Given the description of an element on the screen output the (x, y) to click on. 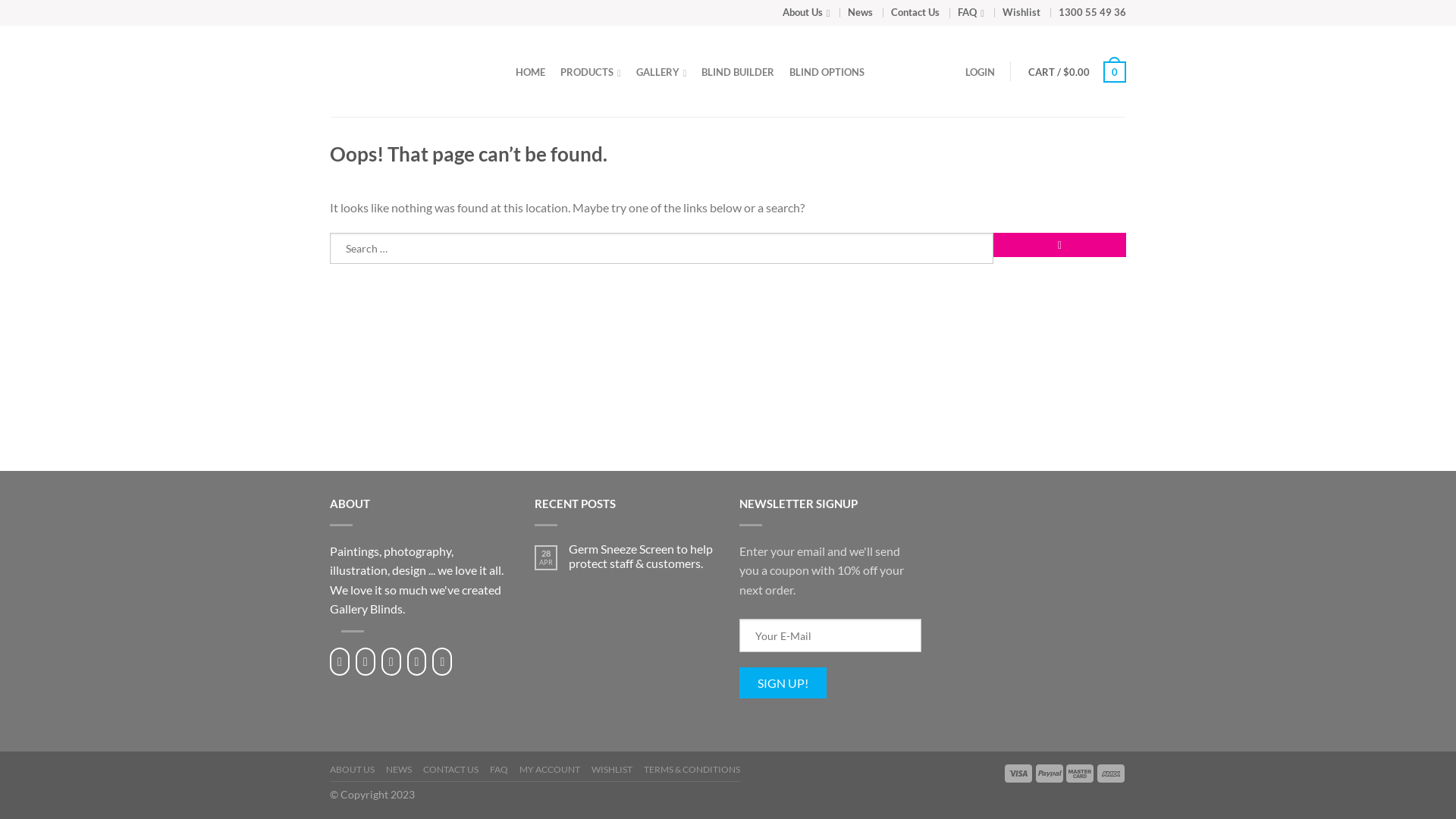
GALLERY Element type: text (661, 71)
About Us Element type: text (806, 12)
CONTACT US Element type: text (450, 771)
BLIND BUILDER Element type: text (737, 71)
FAQ Element type: text (970, 12)
SIGN UP! Element type: text (782, 682)
HOME Element type: text (530, 71)
MY ACCOUNT Element type: text (549, 771)
BLIND OPTIONS Element type: text (826, 71)
ABOUT US Element type: text (351, 771)
Wishlist Element type: text (1021, 12)
FAQ Element type: text (498, 771)
WISHLIST Element type: text (611, 771)
News Element type: text (859, 12)
TERMS & CONDITIONS Element type: text (691, 771)
PRODUCTS Element type: text (590, 71)
1300 55 49 36 Element type: text (1092, 12)
CART / $0.00 0 Element type: text (1077, 71)
GALLERY BLINDS Element type: text (407, 70)
Germ Sneeze Screen to help protect staff & customers. Element type: text (642, 555)
LOGIN Element type: text (979, 71)
NEWS Element type: text (398, 771)
Contact Us Element type: text (915, 12)
